Given the description of an element on the screen output the (x, y) to click on. 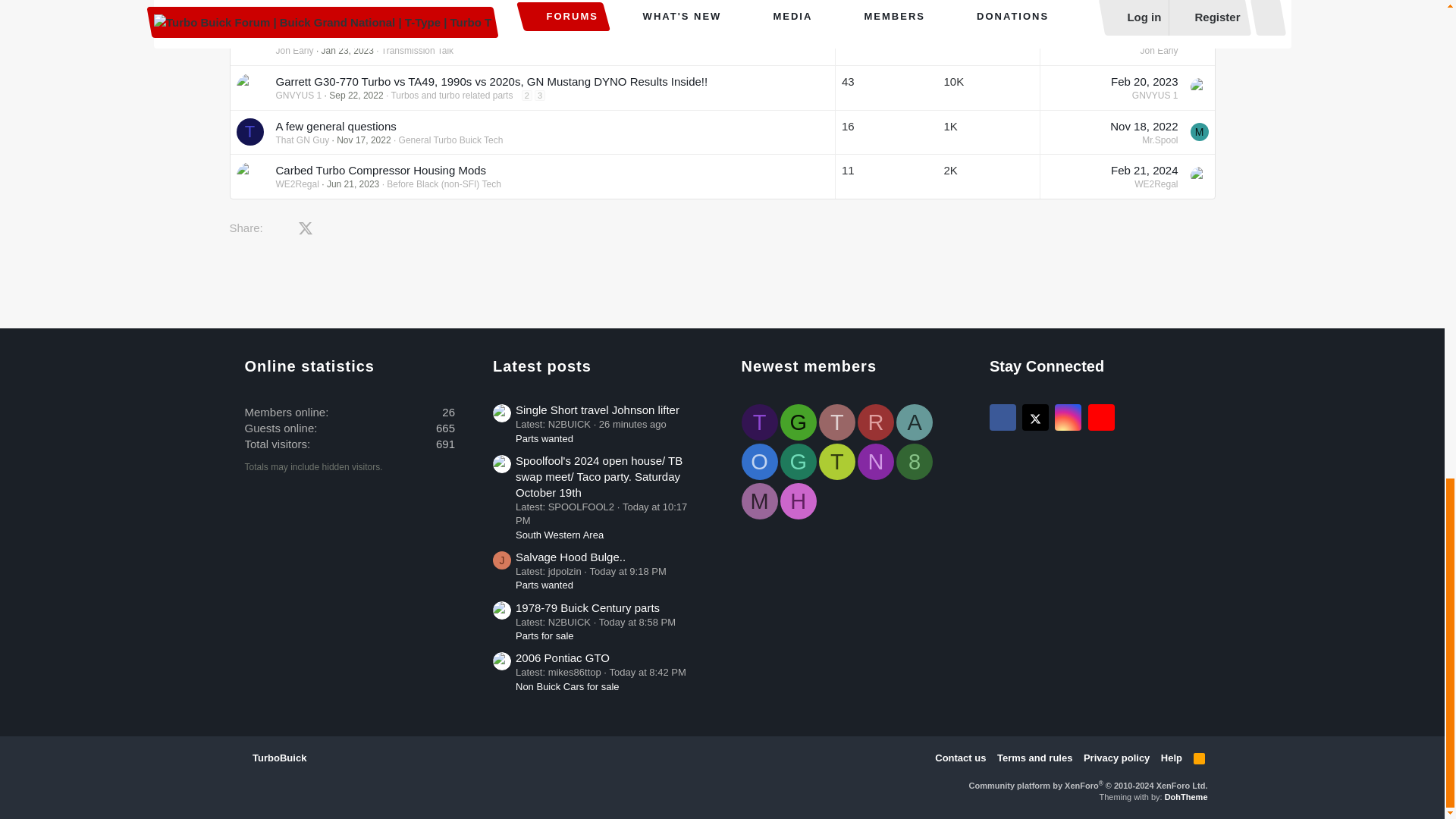
Apr 9, 2024 at 2:17 PM (364, 5)
First message reaction score: 0 (988, 42)
First message reaction score: 0 (988, 10)
Feb 9, 2023 at 8:17 AM (1146, 36)
First message reaction score: 6 (886, 86)
First message reaction score: 0 (886, 42)
Sep 22, 2022 at 2:59 AM (355, 95)
Style variation (319, 757)
First message reaction score: 6 (988, 86)
Jan 23, 2023 at 2:23 PM (347, 50)
